Given the description of an element on the screen output the (x, y) to click on. 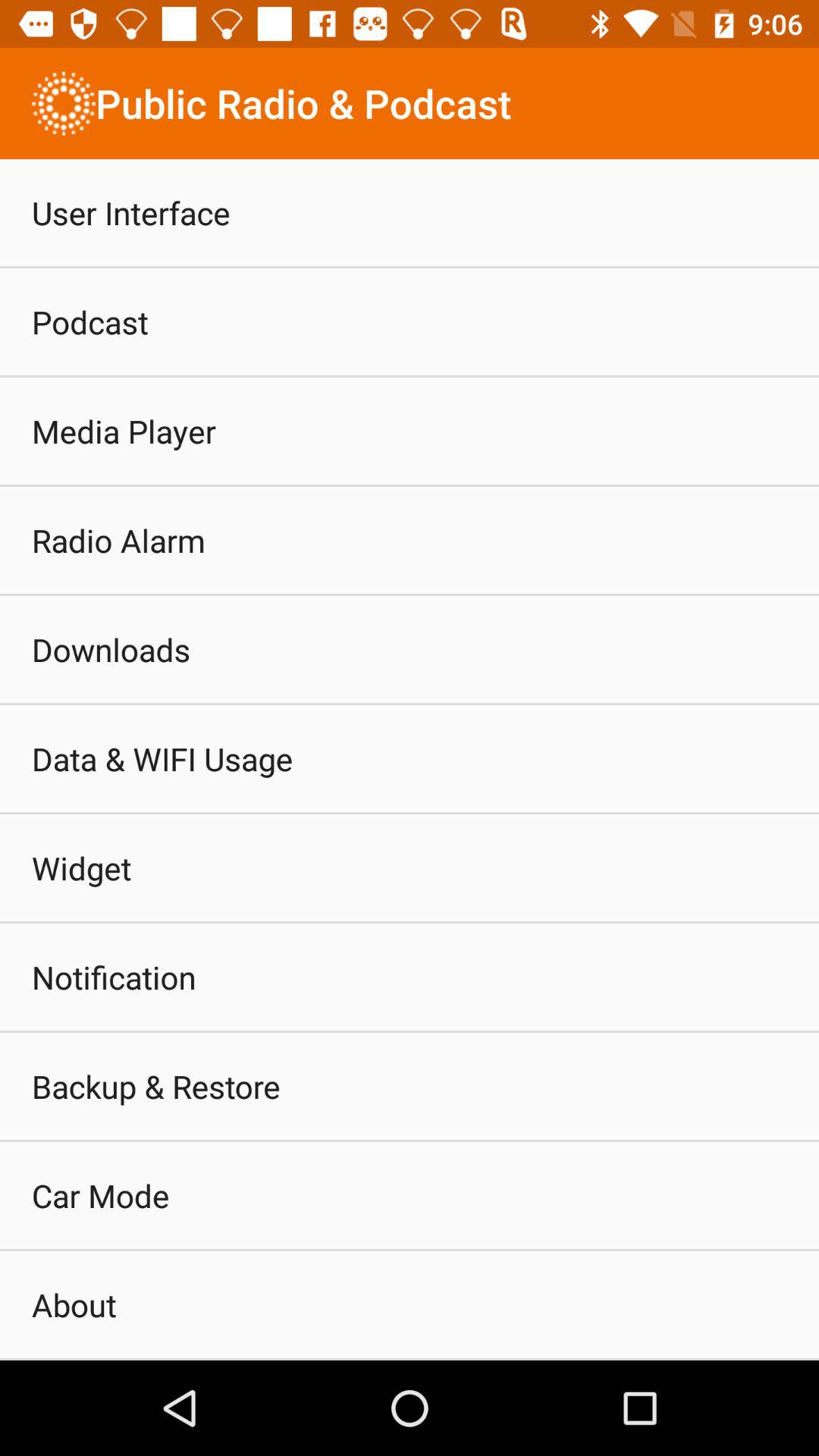
flip until downloads (110, 649)
